Given the description of an element on the screen output the (x, y) to click on. 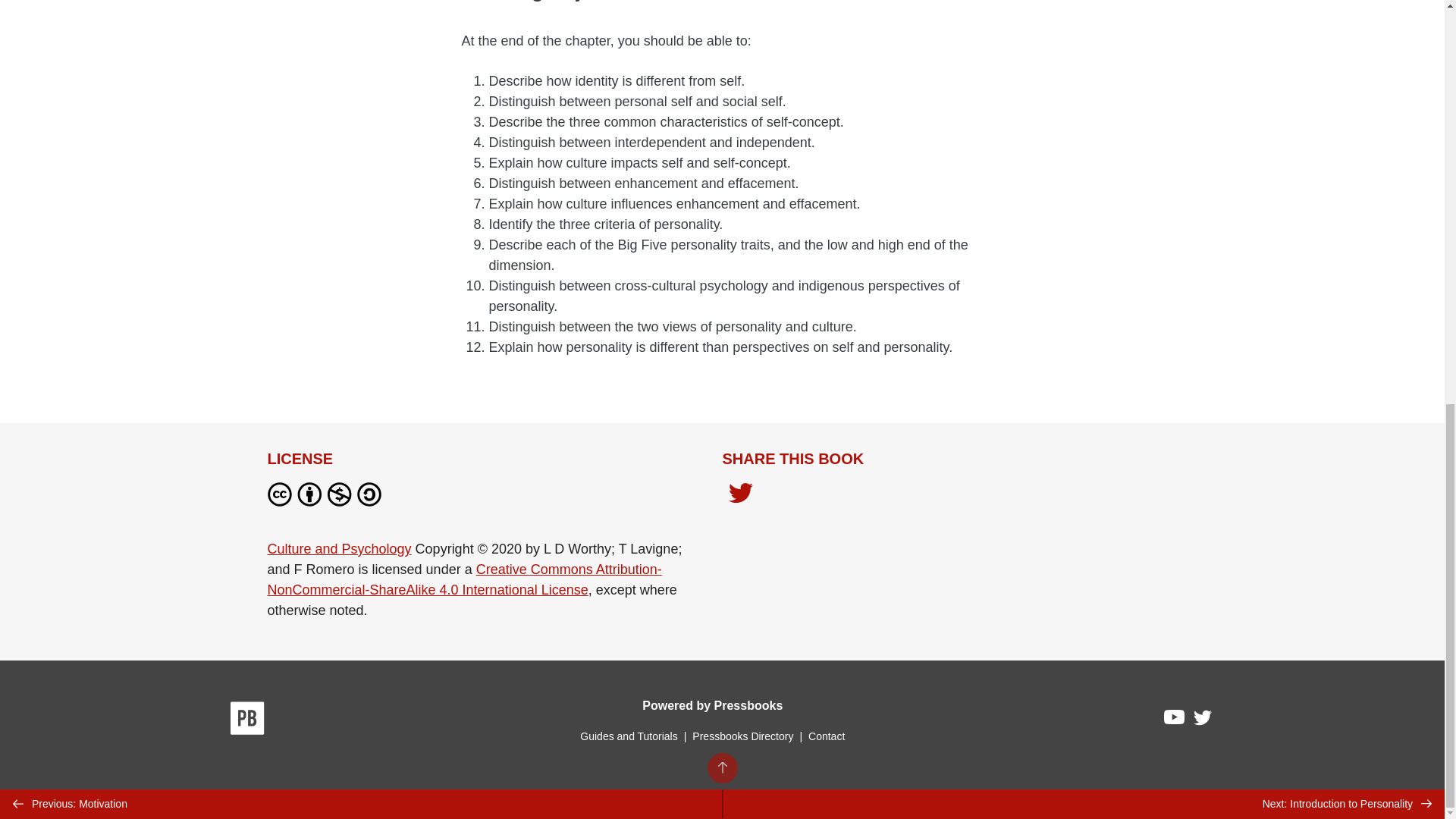
Share on Twitter (740, 496)
Pressbooks Directory (742, 736)
Powered by Pressbooks (712, 705)
Culture and Psychology (338, 548)
Guides and Tutorials (627, 736)
Previous: Motivation (361, 10)
Pressbooks on YouTube (1174, 721)
Share on Twitter (740, 494)
Previous: Motivation (361, 10)
Contact (826, 736)
